Given the description of an element on the screen output the (x, y) to click on. 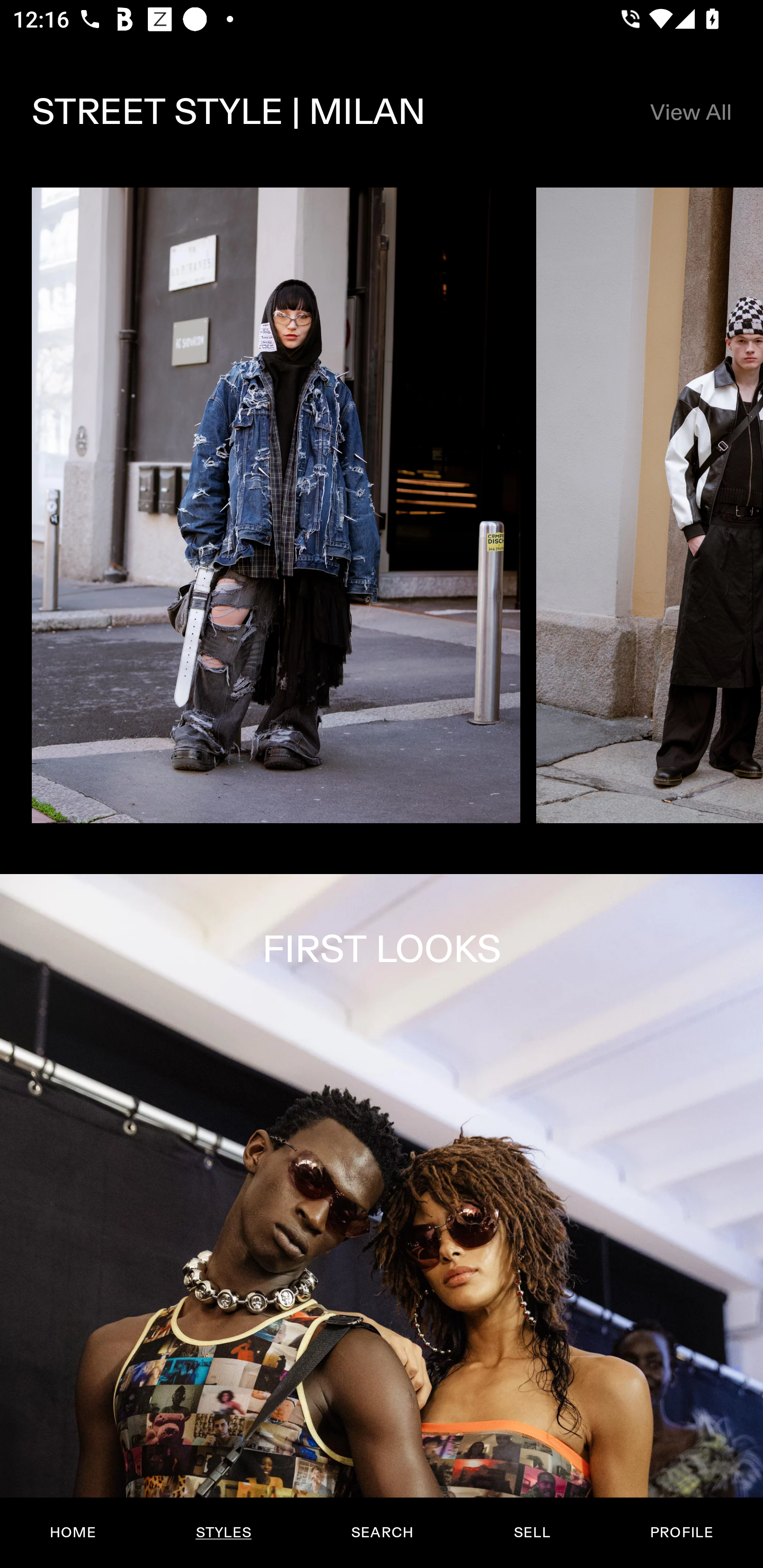
View All (690, 112)
FIRST LOOKS DIESEL FALL '24 (381, 1220)
HOME (72, 1532)
STYLES (222, 1532)
SEARCH (381, 1532)
SELL (531, 1532)
PROFILE (681, 1532)
